Given the description of an element on the screen output the (x, y) to click on. 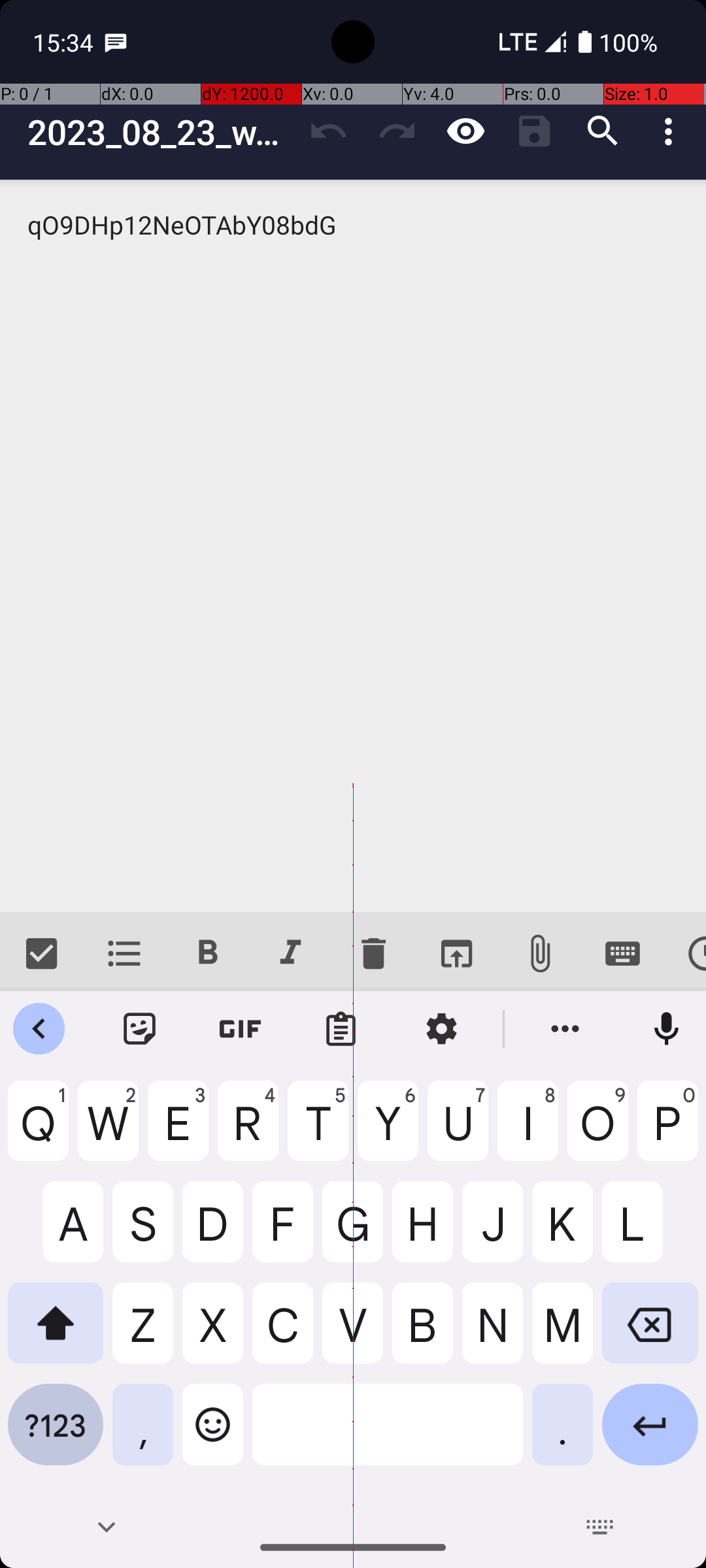
2023_08_23_weekend_todo_list Element type: android.widget.TextView (160, 131)
qO9DHp12NeOTAbY08bdG
 Element type: android.widget.EditText (353, 545)
